Given the description of an element on the screen output the (x, y) to click on. 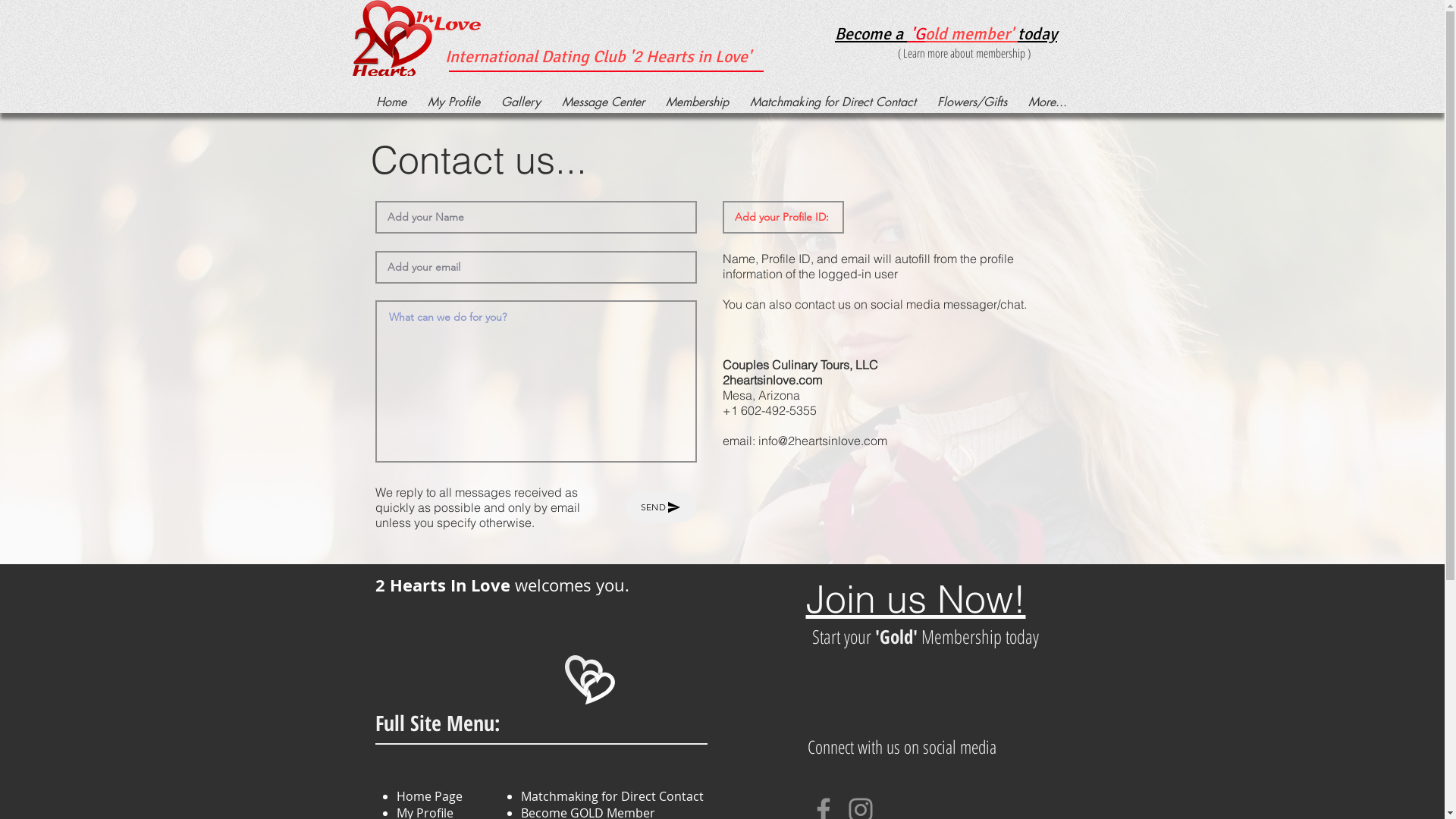
SEND Element type: text (659, 506)
( Learn more about membership ) Element type: text (963, 52)
Matchmaking for Direct Contact Element type: text (611, 795)
Home Page Element type: text (429, 795)
Home Element type: text (391, 102)
Membership Element type: text (697, 102)
Message Center Element type: text (602, 102)
info@2heartsinlove.com Element type: text (822, 440)
My Profile Element type: text (453, 102)
Gallery Element type: text (519, 102)
Join us Now! Element type: text (915, 598)
Become a  'Gold member' today Element type: text (945, 32)
Matchmaking for Direct Contact Element type: text (831, 102)
Flowers/Gifts Element type: text (971, 102)
Start your 'Gold' Membership today Element type: text (924, 636)
